Given the description of an element on the screen output the (x, y) to click on. 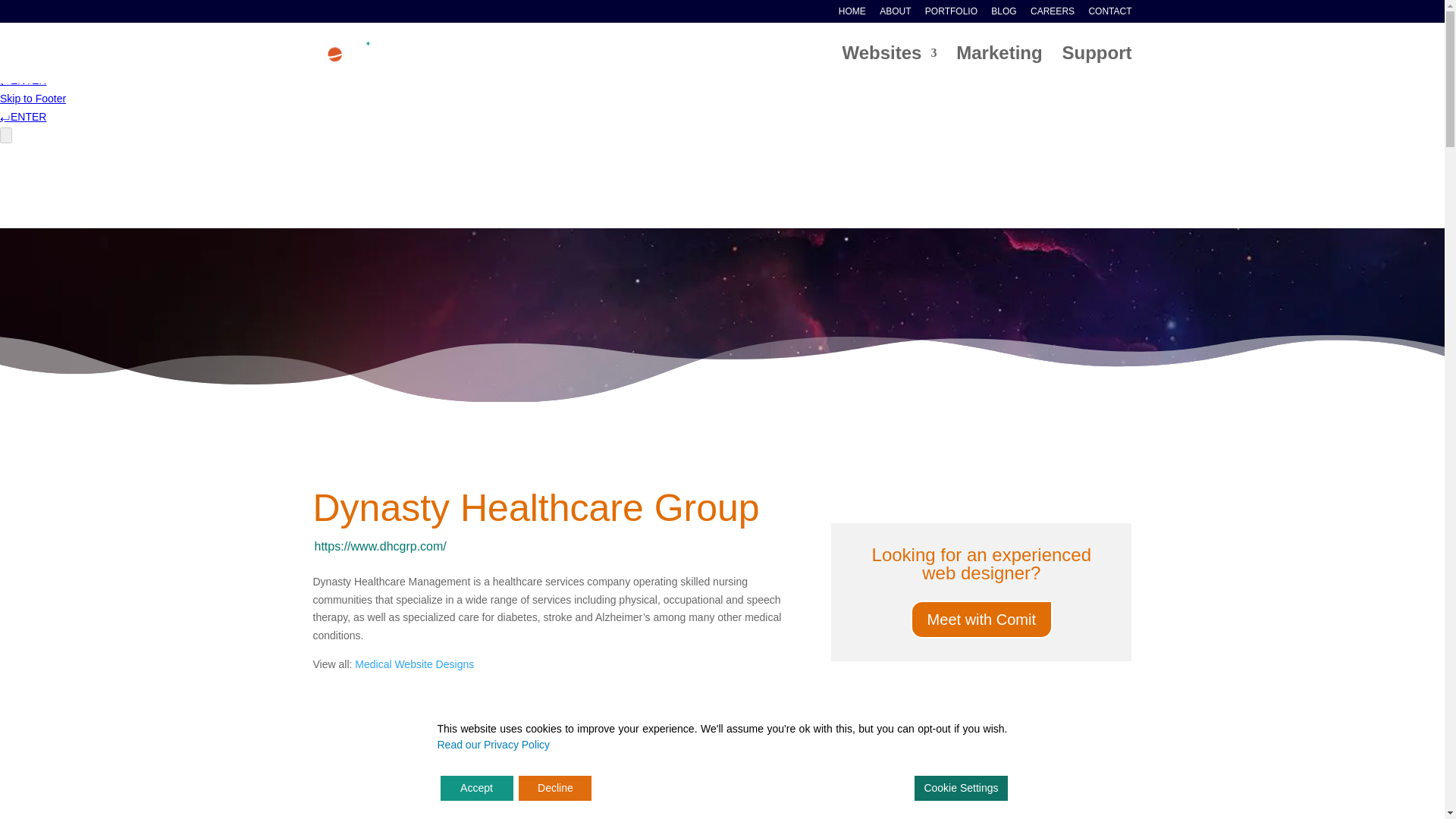
Support (1097, 65)
BLOG (1003, 14)
Portfolio (1020, 784)
Medical Website Designs (414, 664)
PORTFOLIO (950, 14)
Meet with Comit (981, 619)
Websites (888, 65)
Home (974, 784)
Marketing (999, 65)
CONTACT (1109, 14)
HOME (852, 14)
CAREERS (1052, 14)
Medical (1069, 784)
ABOUT (895, 14)
